Given the description of an element on the screen output the (x, y) to click on. 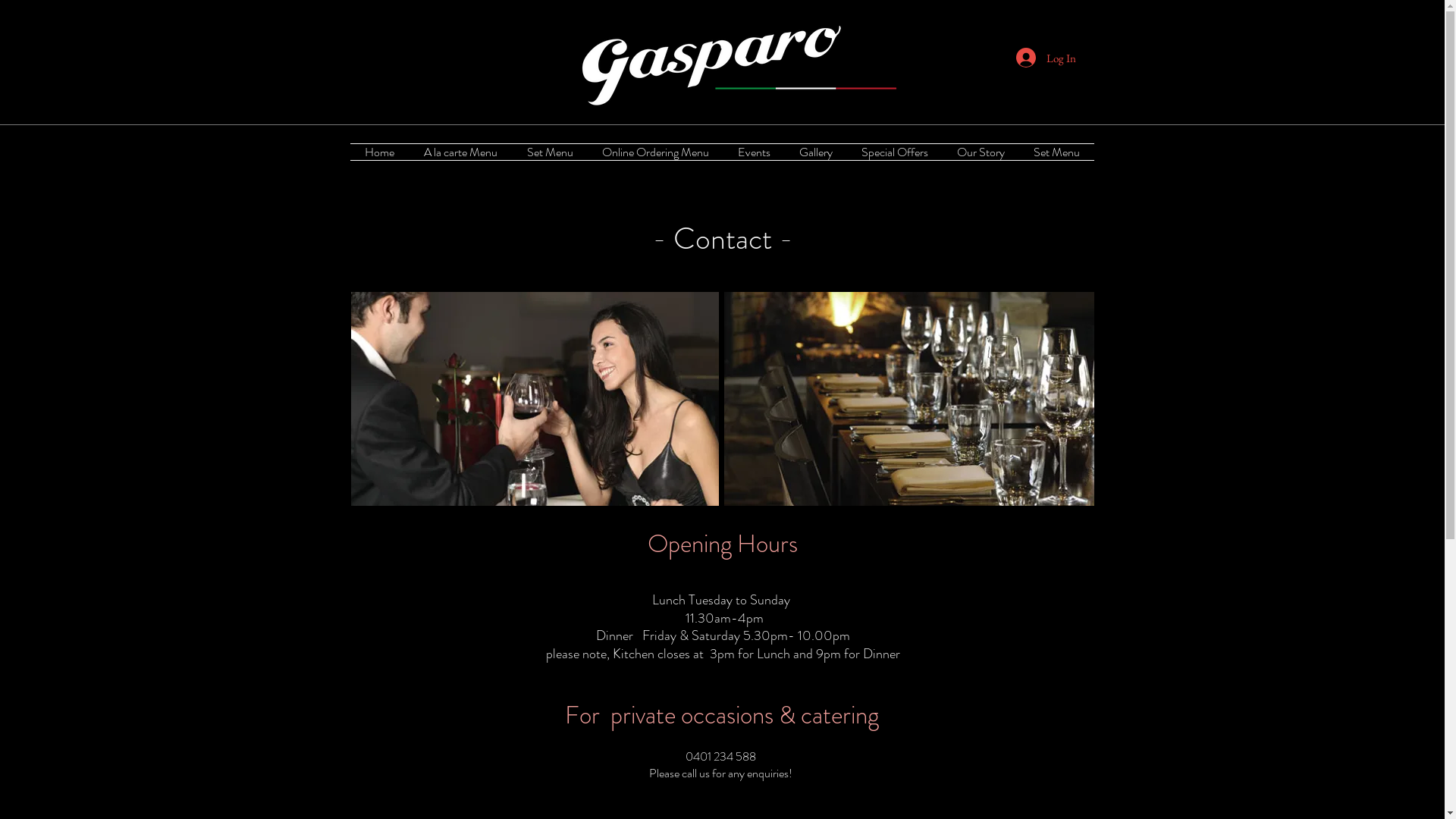
Home Element type: text (379, 152)
A la carte Menu Element type: text (460, 152)
Log In Element type: text (1045, 57)
Gallery Element type: text (815, 152)
Special Offers Element type: text (893, 152)
Events Element type: text (753, 152)
Online Ordering Menu Element type: text (654, 152)
Our Story Element type: text (979, 152)
Set Menu Element type: text (549, 152)
